Given the description of an element on the screen output the (x, y) to click on. 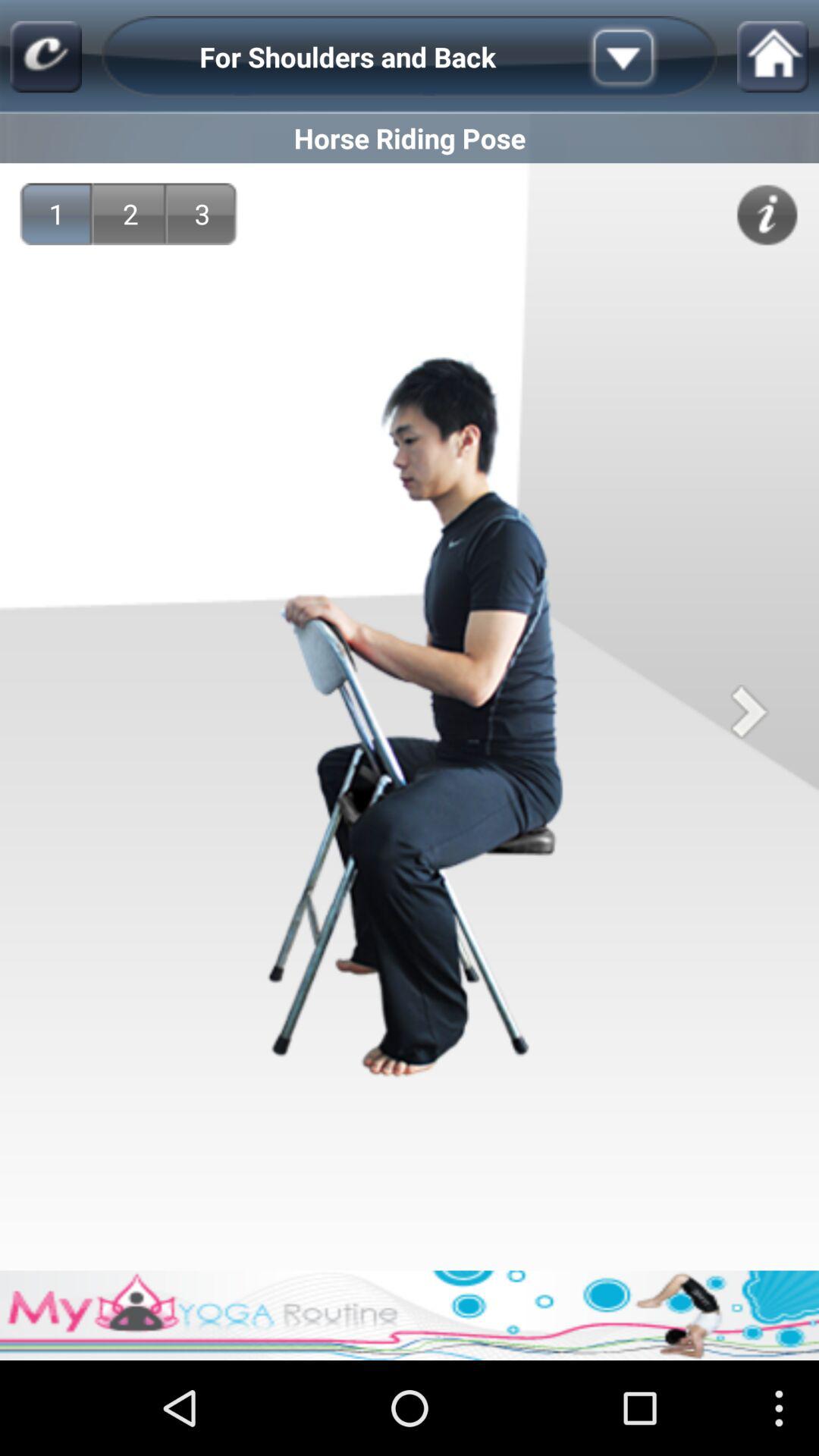
launch the item below horse riding pose app (767, 214)
